Given the description of an element on the screen output the (x, y) to click on. 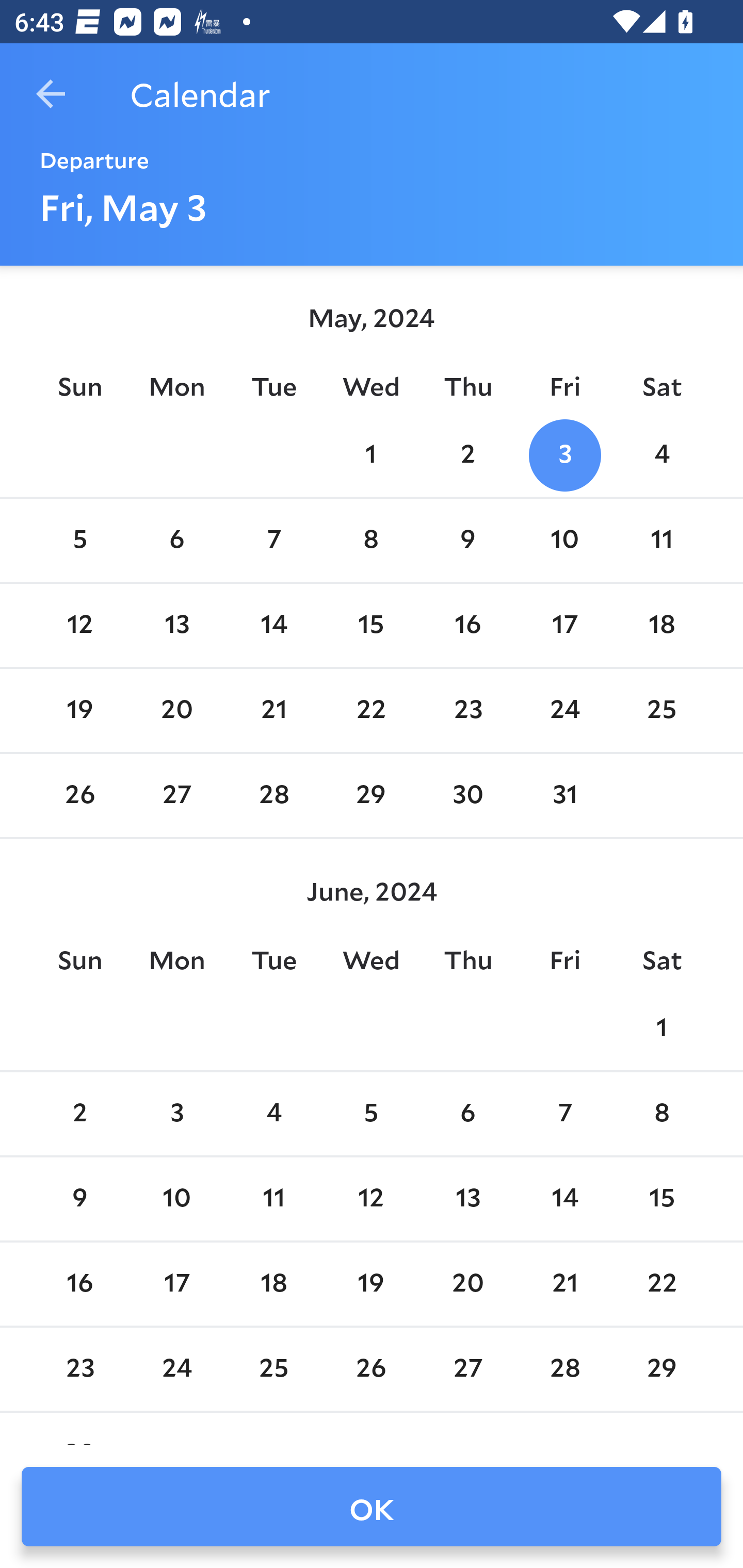
Navigate up (50, 93)
1 (371, 454)
2 (467, 454)
3 (565, 454)
4 (661, 454)
5 (79, 540)
6 (177, 540)
7 (273, 540)
8 (371, 540)
9 (467, 540)
10 (565, 540)
11 (661, 540)
12 (79, 625)
13 (177, 625)
14 (273, 625)
15 (371, 625)
16 (467, 625)
17 (565, 625)
18 (661, 625)
19 (79, 710)
20 (177, 710)
21 (273, 710)
22 (371, 710)
23 (467, 710)
24 (565, 710)
25 (661, 710)
26 (79, 796)
27 (177, 796)
28 (273, 796)
29 (371, 796)
30 (467, 796)
31 (565, 796)
1 (661, 1028)
2 (79, 1114)
3 (177, 1114)
4 (273, 1114)
5 (371, 1114)
6 (467, 1114)
7 (565, 1114)
8 (661, 1114)
9 (79, 1199)
10 (177, 1199)
11 (273, 1199)
12 (371, 1199)
13 (467, 1199)
14 (565, 1199)
15 (661, 1199)
16 (79, 1284)
17 (177, 1284)
18 (273, 1284)
